Given the description of an element on the screen output the (x, y) to click on. 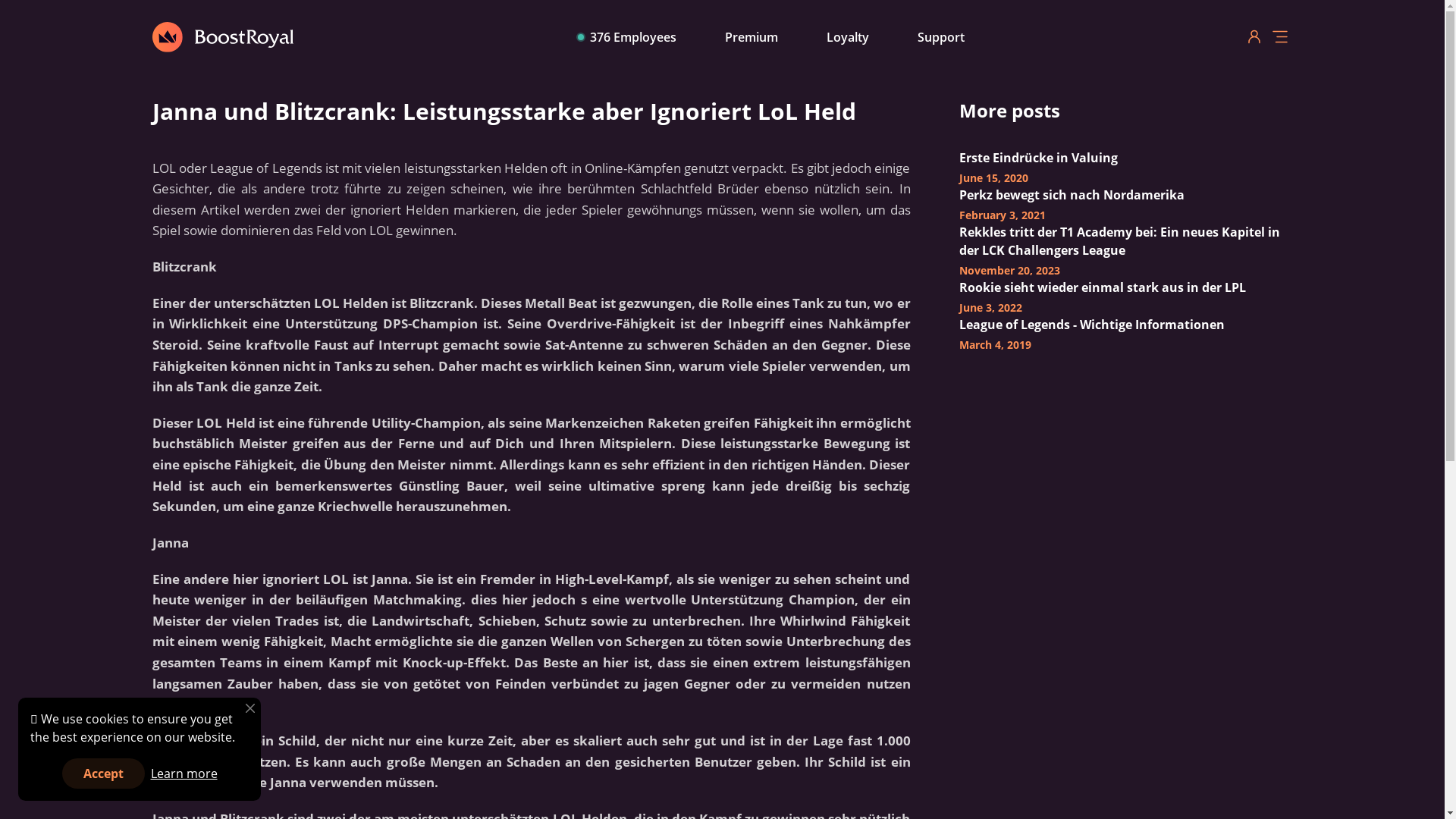
Rookie sieht wieder einmal stark aus in der LPL
June 3, 2022 Element type: text (1125, 296)
Premium Element type: text (751, 36)
BoostRoyal Element type: hover (243, 37)
Loyalty Element type: text (847, 36)
376
Employees Element type: text (626, 36)
Learn more Element type: text (183, 773)
BoostRoyal Element type: hover (166, 36)
LoL ELO Boost Element type: hover (221, 36)
League of Legends - Wichtige Informationen
March 4, 2019 Element type: text (1125, 333)
Support Element type: text (940, 36)
Perkz bewegt sich nach Nordamerika
February 3, 2021 Element type: text (1125, 203)
